Given the description of an element on the screen output the (x, y) to click on. 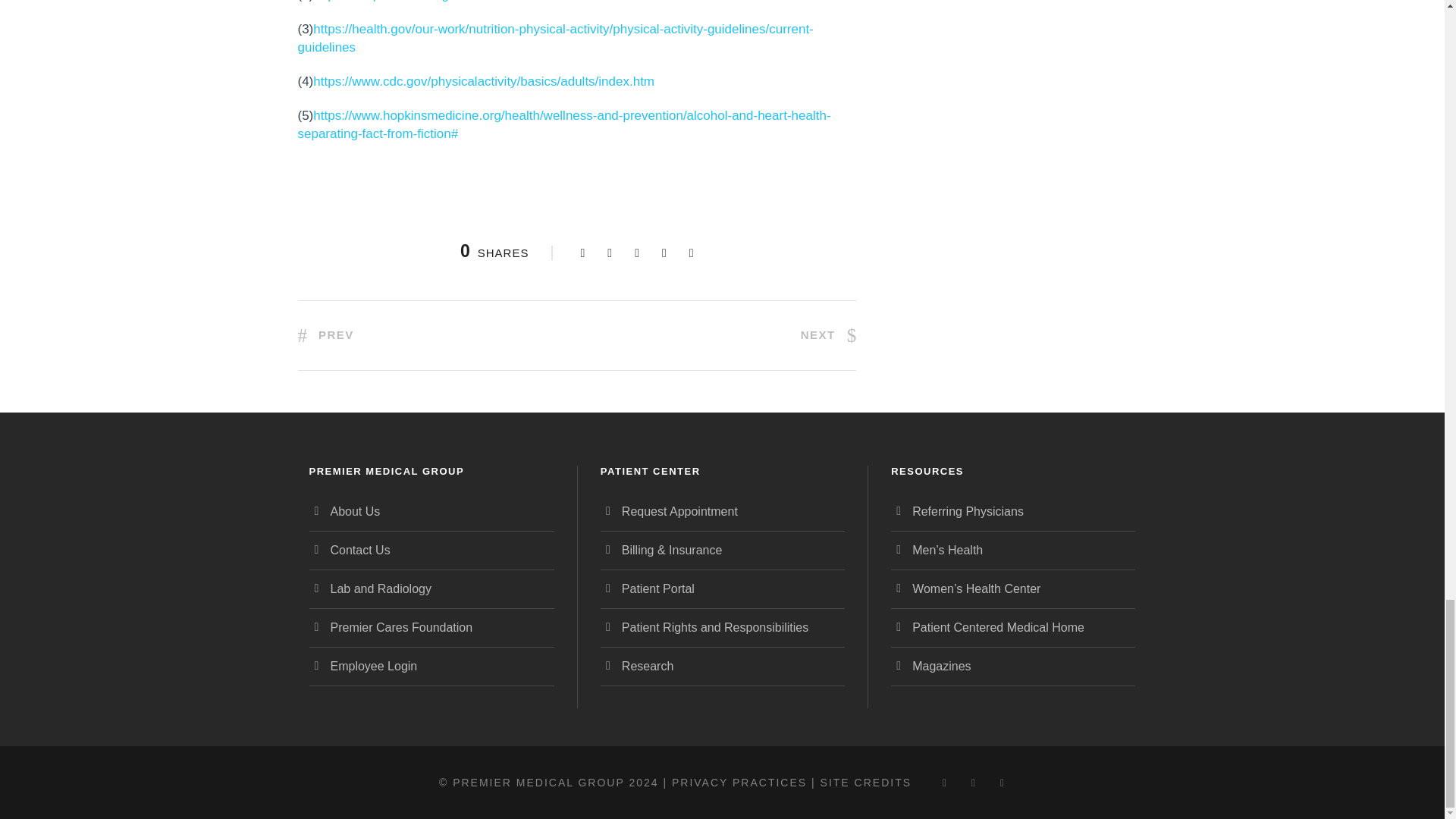
SITE CREDITS (866, 782)
Contact Us (360, 549)
Research (646, 666)
youtube (1003, 782)
About Us (355, 511)
PRIVACY PRACTICES (738, 782)
Premier Cares Foundation (401, 626)
facebook (944, 782)
Magazines (941, 666)
Employee Login (373, 666)
PREV (325, 334)
Patient Rights and Responsibilities (714, 626)
Request Appointment (679, 511)
NEXT (828, 334)
Patient Portal (657, 588)
